Given the description of an element on the screen output the (x, y) to click on. 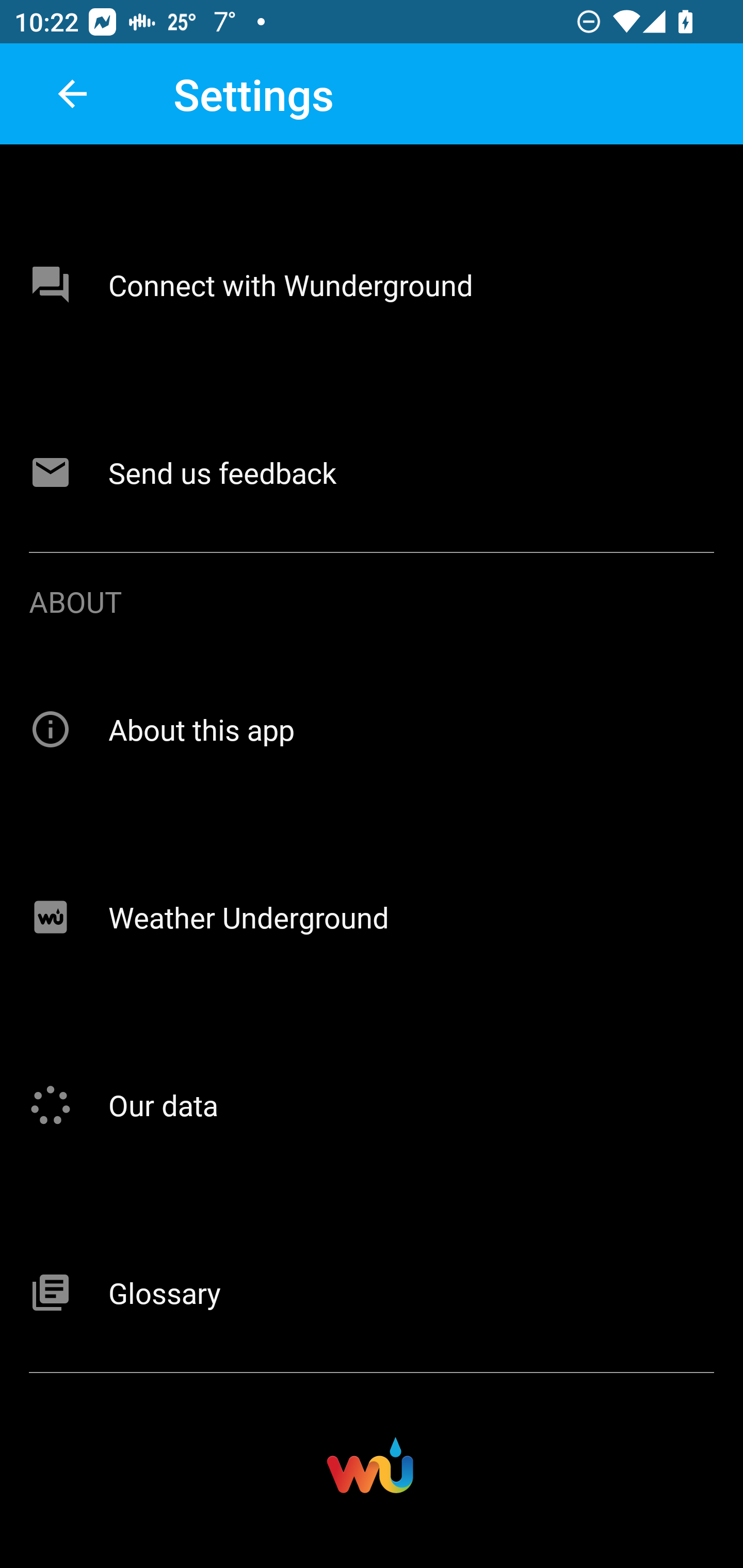
back (71, 93)
Connect with Wunderground (371, 284)
Send us feedback Send us feedback. Open in browser (371, 472)
About this app (371, 729)
Weather Underground (371, 917)
Our data (371, 1104)
Glossary (371, 1292)
